Given the description of an element on the screen output the (x, y) to click on. 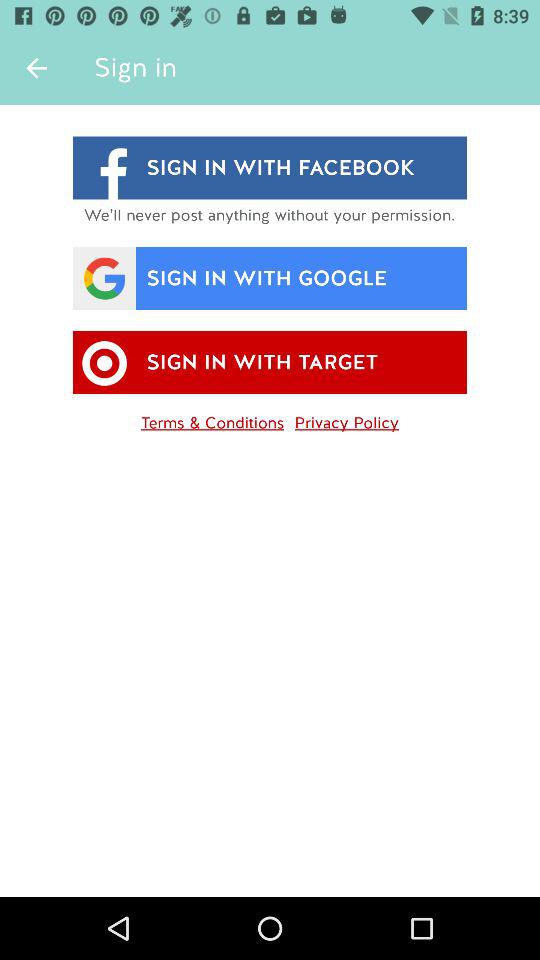
press the item to the left of privacy policy item (212, 419)
